Given the description of an element on the screen output the (x, y) to click on. 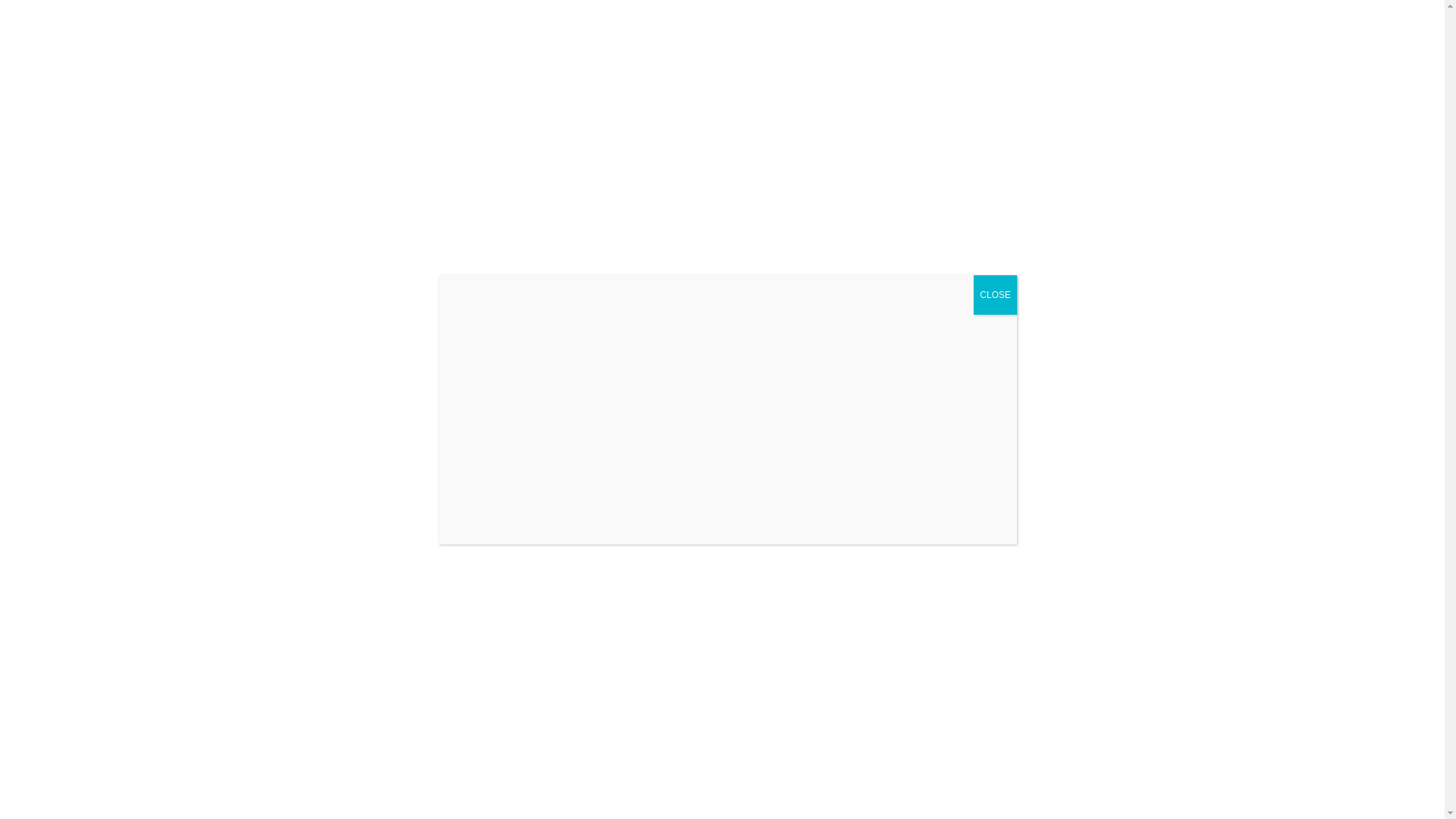
YouTube video player (664, 25)
Daily Free Spins Deposit Czech Republic (207, 311)
